Given the description of an element on the screen output the (x, y) to click on. 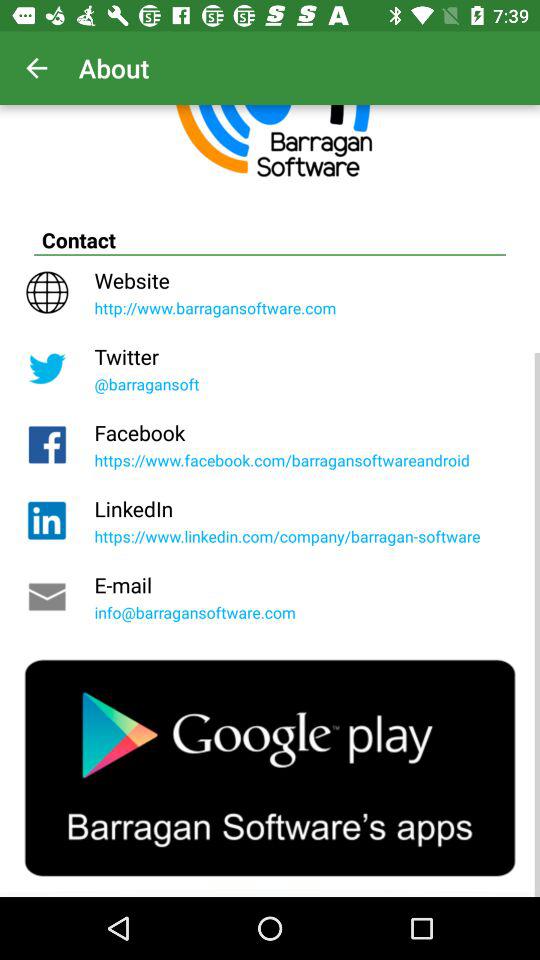
turn off app next to the about (36, 68)
